Given the description of an element on the screen output the (x, y) to click on. 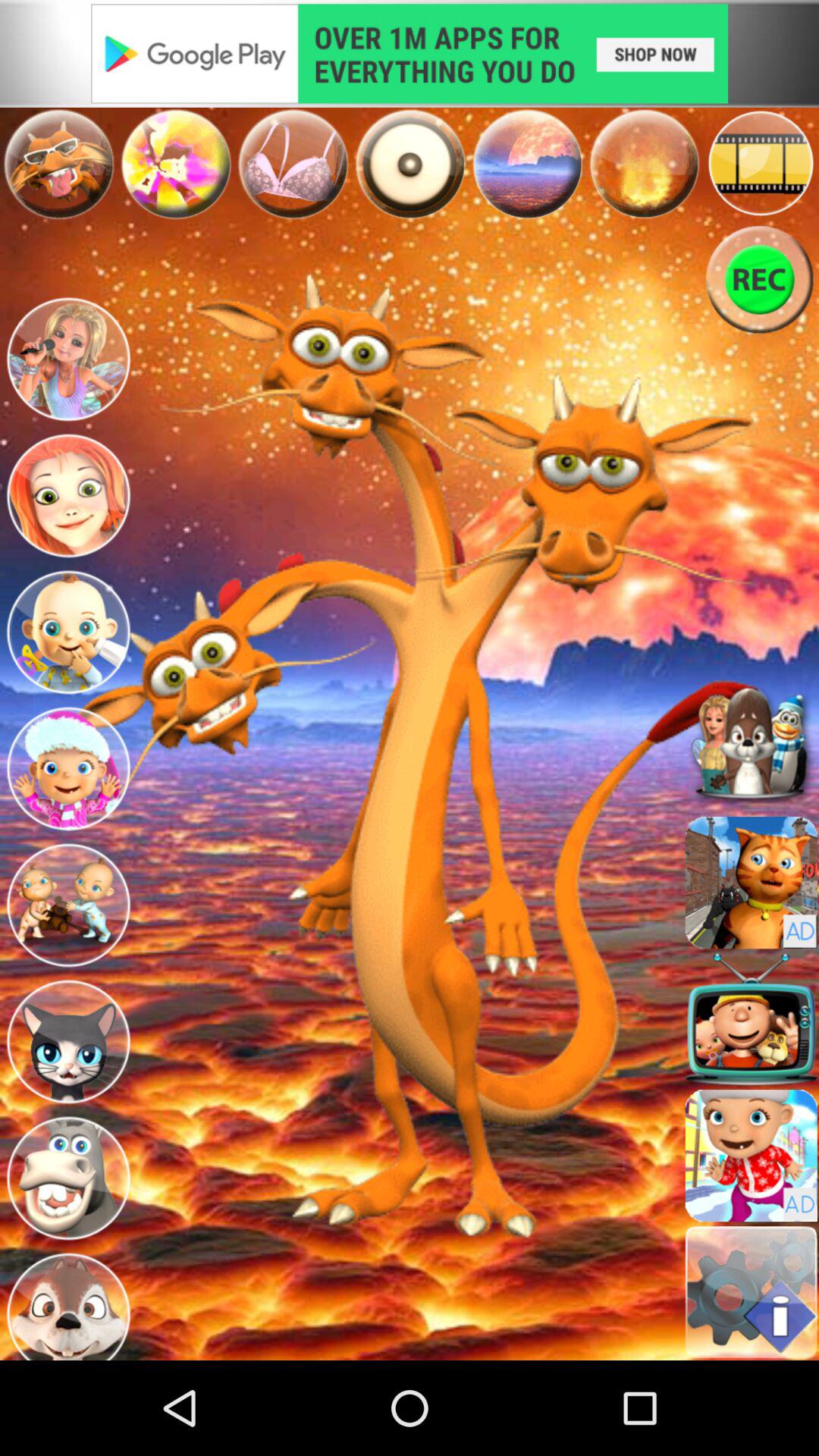
ok (751, 1018)
